Given the description of an element on the screen output the (x, y) to click on. 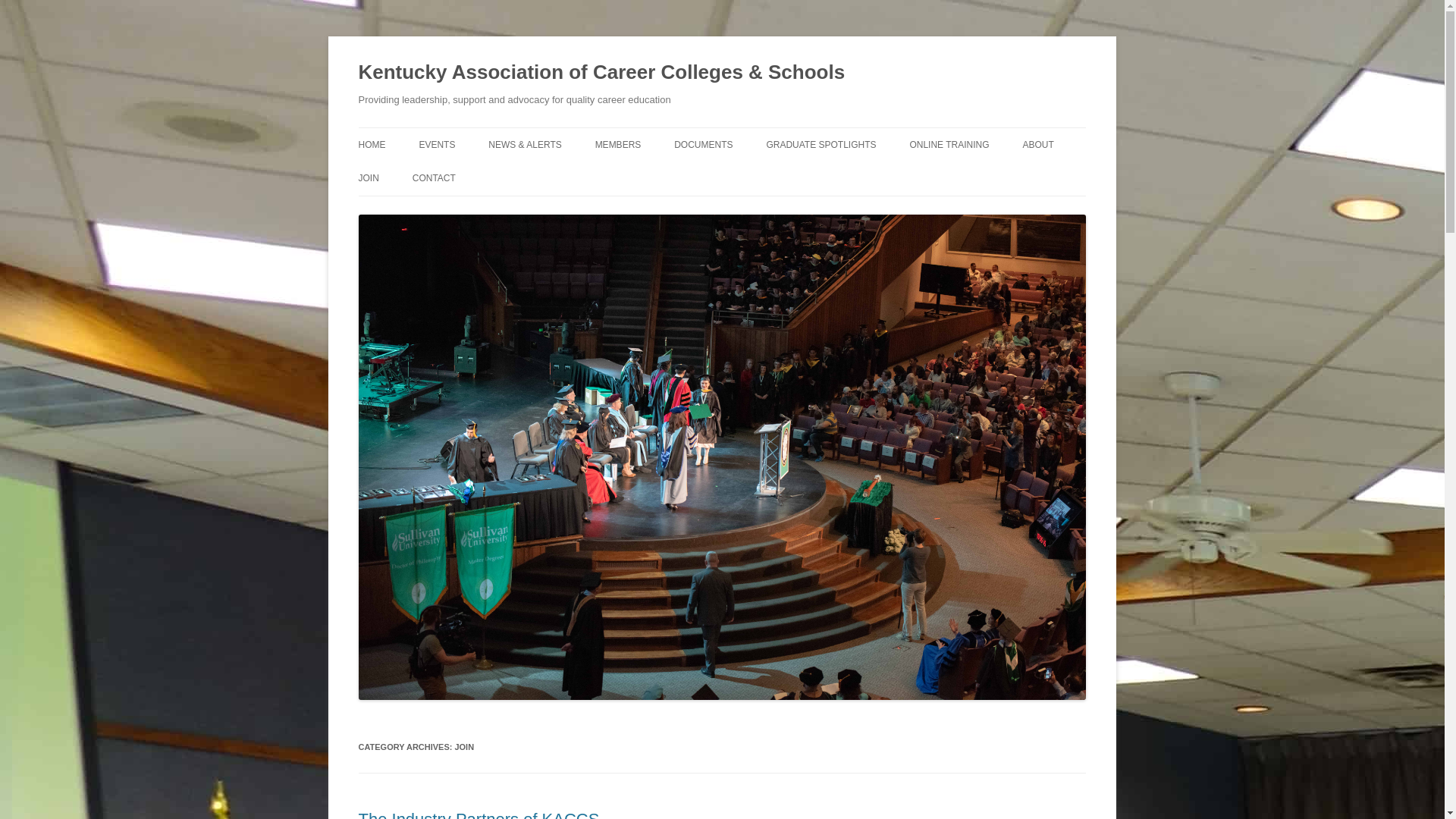
CONTACT (433, 177)
MEMBERS DIRECTORY (670, 176)
DOCUMENTS (703, 144)
MEMBERS (618, 144)
ABOUT (1037, 144)
ONLINE TRAINING (948, 144)
GRADUATE SPOTLIGHTS (820, 144)
The Industry Partners of KACCS (478, 814)
EVENTS (436, 144)
